Given the description of an element on the screen output the (x, y) to click on. 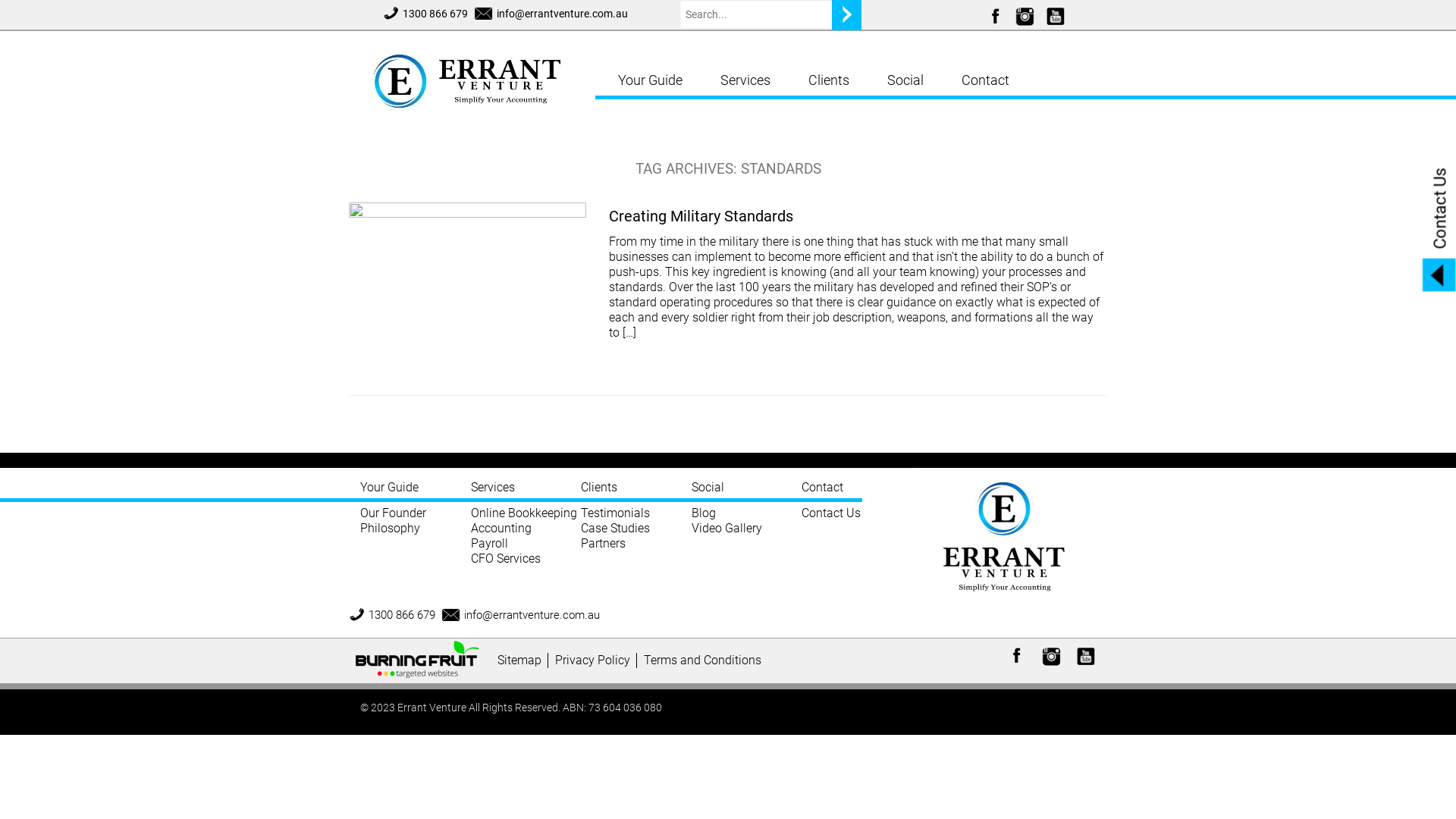
info@errantventure.com.au Element type: text (521, 614)
Your Guide Element type: text (415, 491)
Our Founder Element type: text (393, 512)
Errant Venture - Errant Venture Website Element type: hover (477, 76)
Contact Element type: text (831, 491)
Social Element type: text (905, 79)
Testimonials Element type: text (614, 512)
Payroll Element type: text (488, 543)
Sitemap Element type: text (522, 660)
Clients Element type: text (635, 491)
info@errantventure.com.au Element type: text (551, 13)
1300 866 679 Element type: text (424, 13)
Partners Element type: text (602, 543)
Creating Military Standards Element type: text (700, 216)
1300 866 679 Element type: text (391, 614)
Terms and Conditions Element type: text (705, 660)
Clients Element type: text (828, 79)
Services Element type: text (525, 491)
Video Gallery Element type: text (726, 527)
Philosophy Element type: text (390, 527)
Accounting Element type: text (500, 527)
Contact Us Element type: text (830, 512)
Blog Element type: text (703, 512)
CFO Services Element type: text (504, 558)
Case Studies Element type: text (614, 527)
Services Element type: text (745, 79)
Privacy Policy Element type: text (596, 660)
Your Guide Element type: text (649, 79)
Social Element type: text (746, 491)
Contact Element type: text (985, 79)
Online Bookkeeping Element type: text (523, 512)
